Given the description of an element on the screen output the (x, y) to click on. 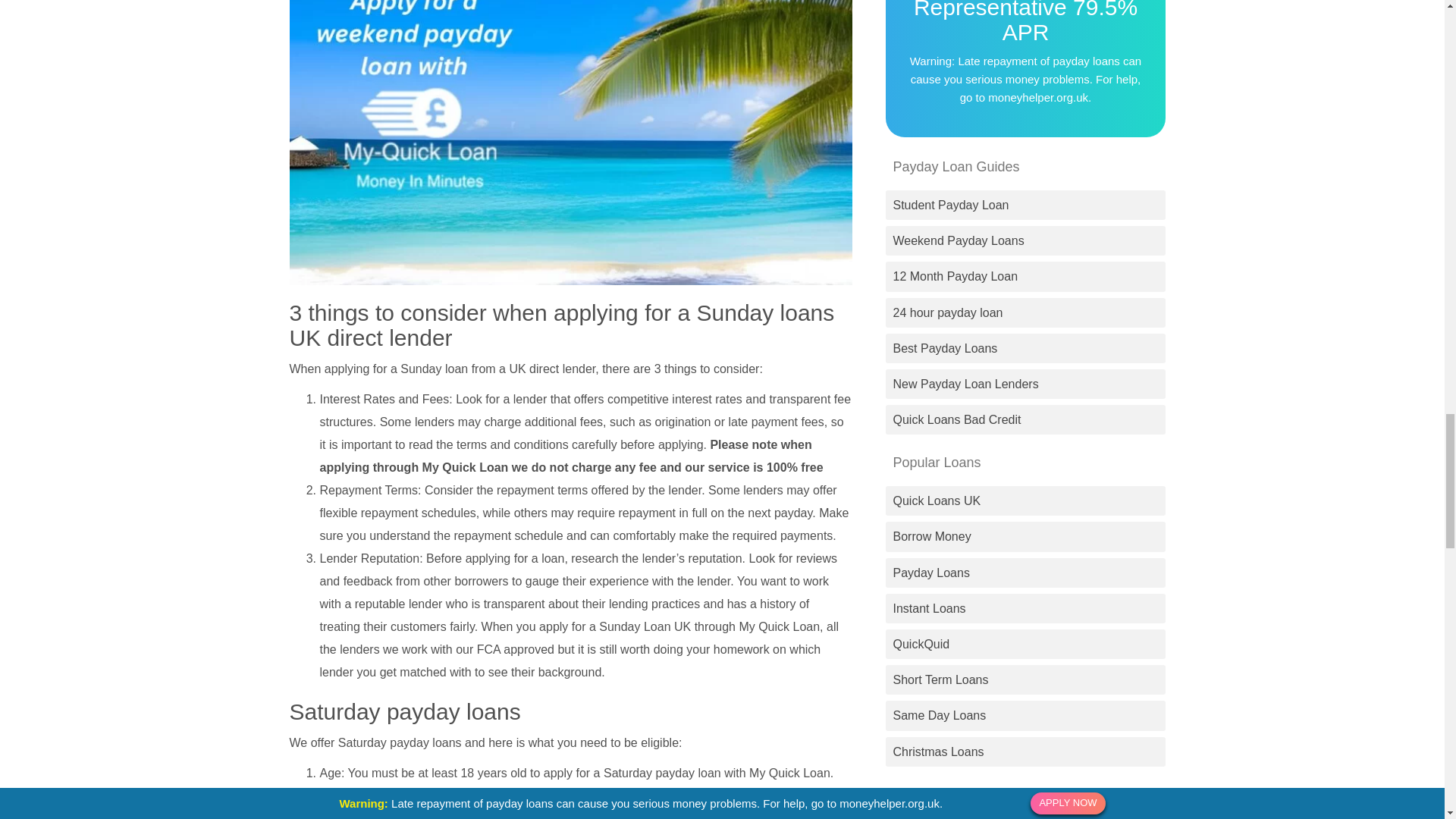
Borrow Money (1025, 536)
Instant Loans (1025, 608)
Weekend Payday Loans (1025, 240)
Student Payday Loan (1025, 205)
Get a Quick Quote (1020, 806)
12 Month Payday Loan (1025, 276)
24 hour payday loan (1025, 312)
Best Payday Loans (1025, 348)
Quick Loans UK (1025, 500)
Same Day Loans (1025, 715)
